Given the description of an element on the screen output the (x, y) to click on. 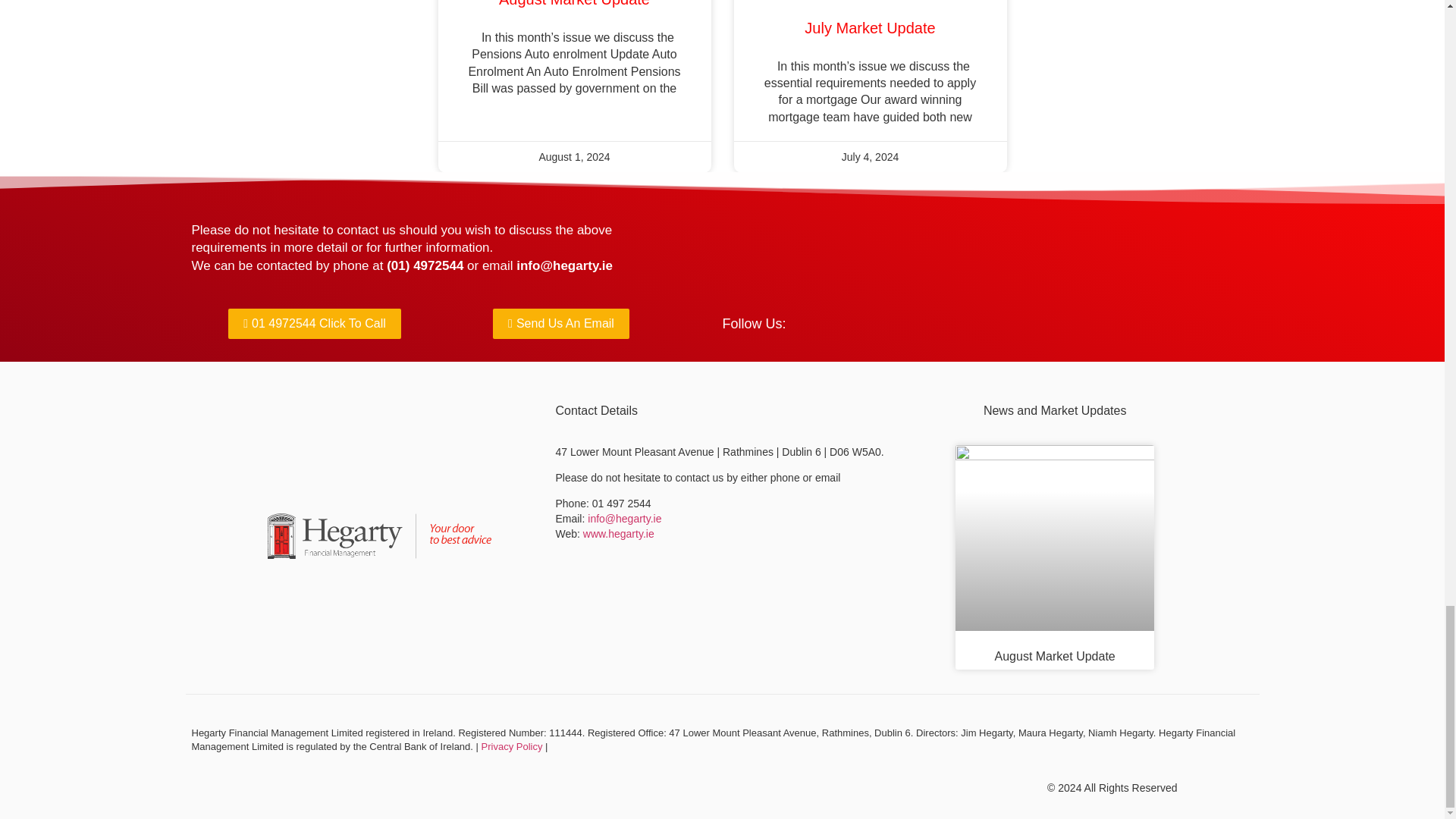
Send Us An Email (560, 323)
July Market Update (869, 27)
August Market Update (574, 3)
01 4972544 Click To Call (314, 323)
